Given the description of an element on the screen output the (x, y) to click on. 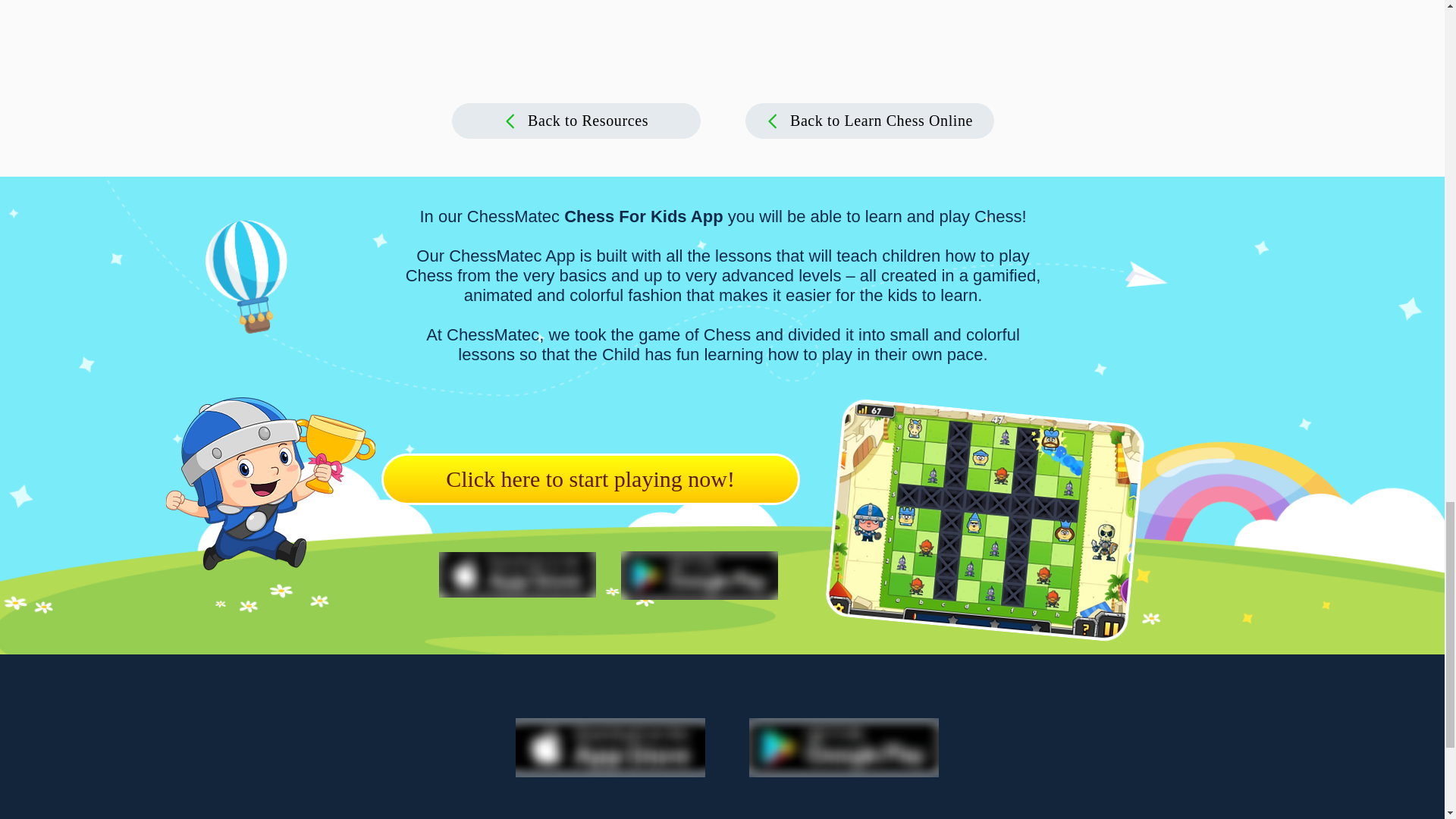
Click here to start playing now! (589, 479)
Back to Learn Chess Online (868, 120)
Back to Resources (575, 120)
